Given the description of an element on the screen output the (x, y) to click on. 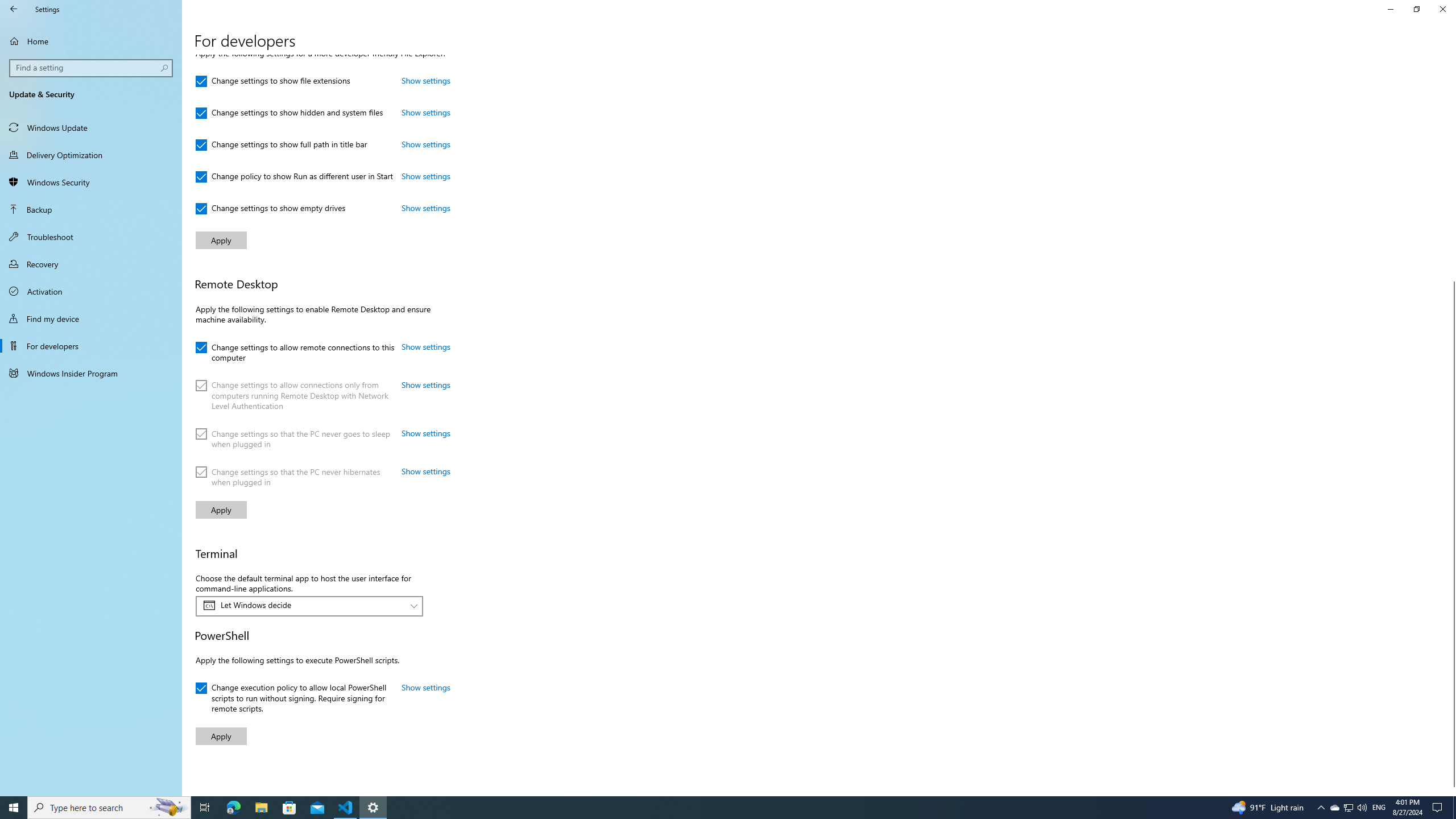
Change settings to show empty drives (270, 208)
Delivery Optimization (91, 154)
Vertical (1451, 425)
Vertical Small Increase (1451, 791)
Windows Security (91, 181)
Tray Input Indicator - English (United States) (1378, 807)
Running applications (706, 807)
